Given the description of an element on the screen output the (x, y) to click on. 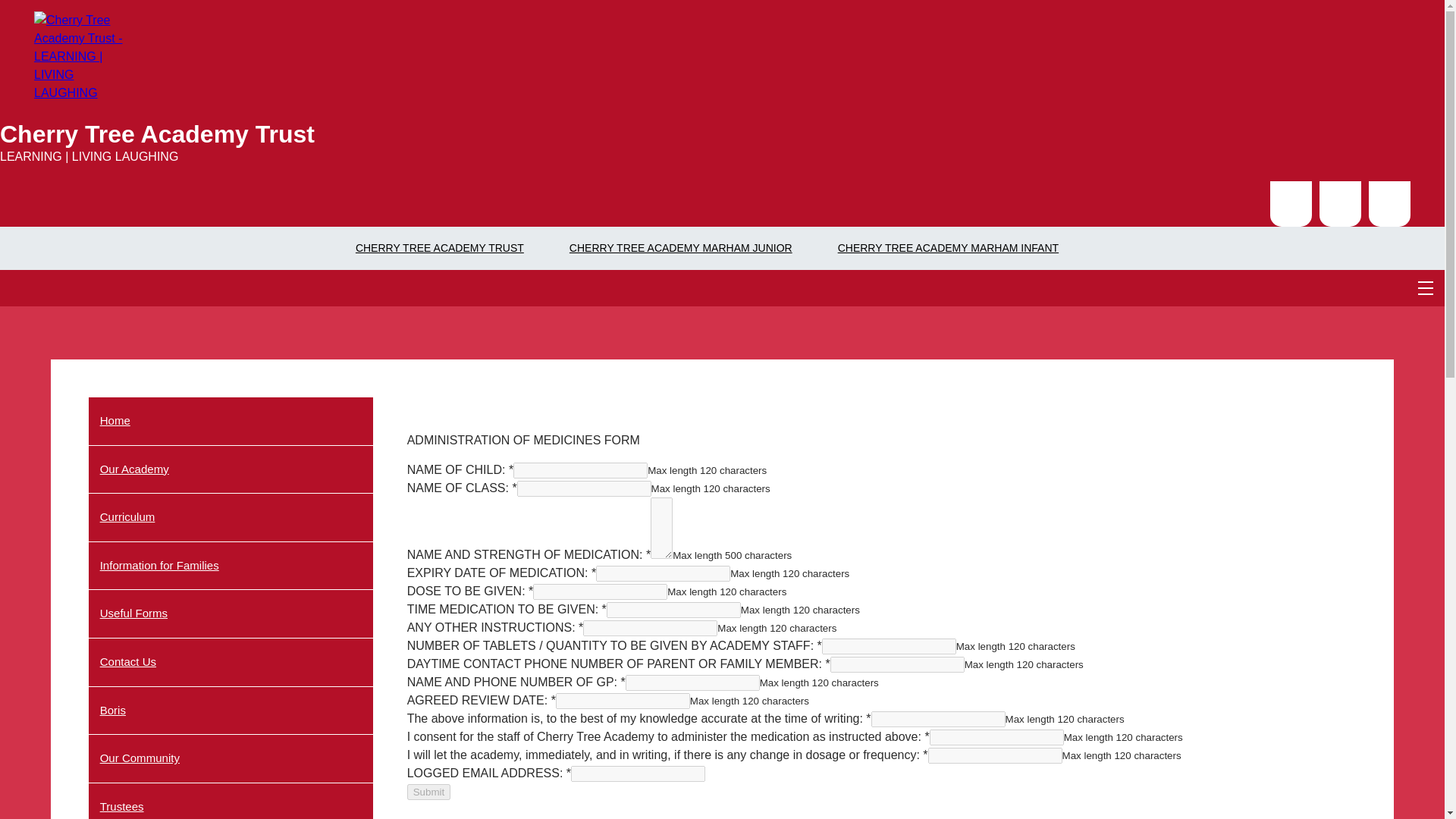
CHERRY TREE ACADEMY MARHAM INFANT (947, 248)
CHERRY TREE ACADEMY MARHAM JUNIOR (680, 248)
CHERRY TREE ACADEMY TRUST (439, 248)
